Given the description of an element on the screen output the (x, y) to click on. 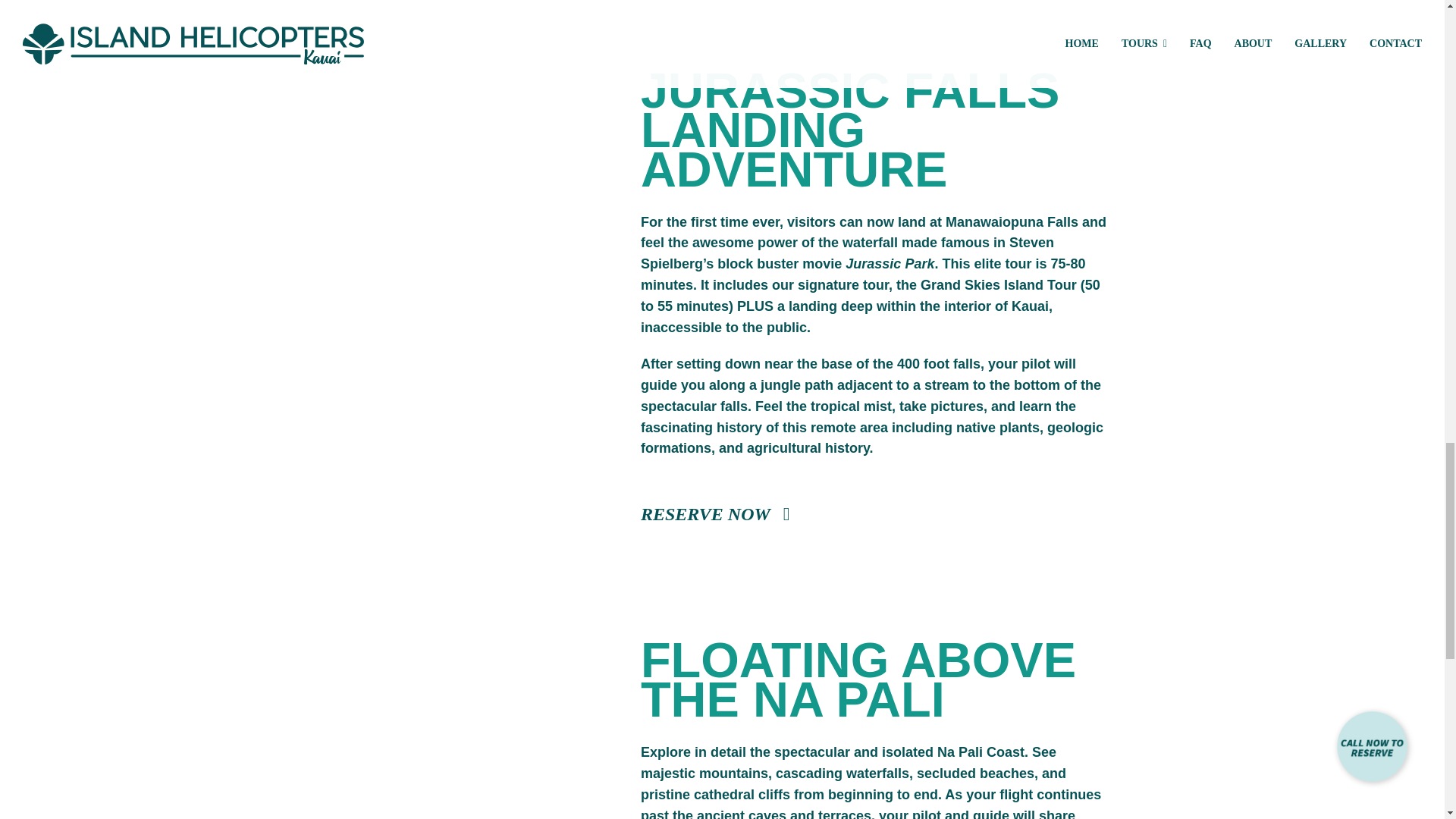
YouTube video player 3 (418, 729)
YouTube video player 2 (418, 180)
RESERVE NOW (715, 514)
